Given the description of an element on the screen output the (x, y) to click on. 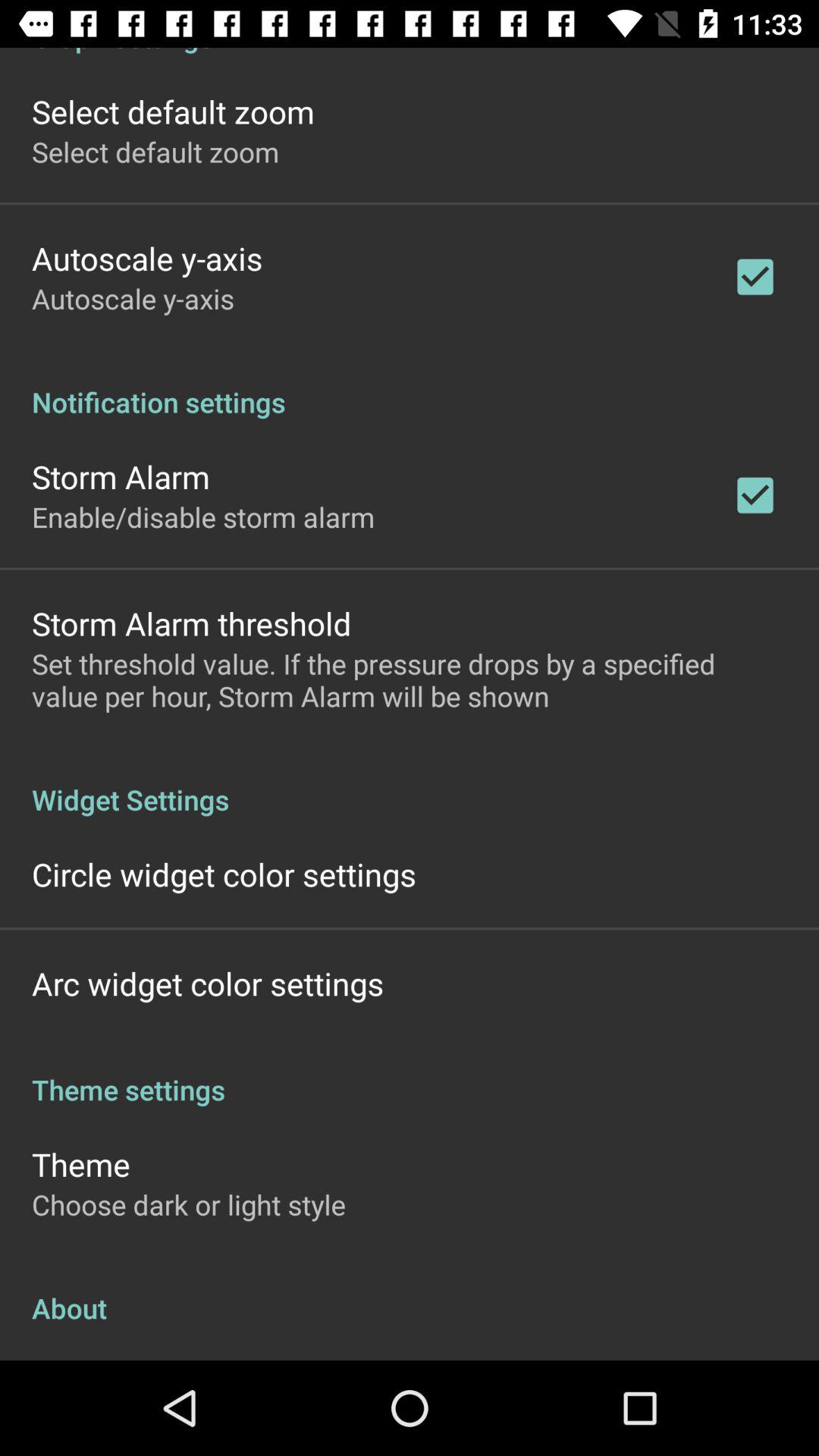
press notification settings (409, 385)
